Given the description of an element on the screen output the (x, y) to click on. 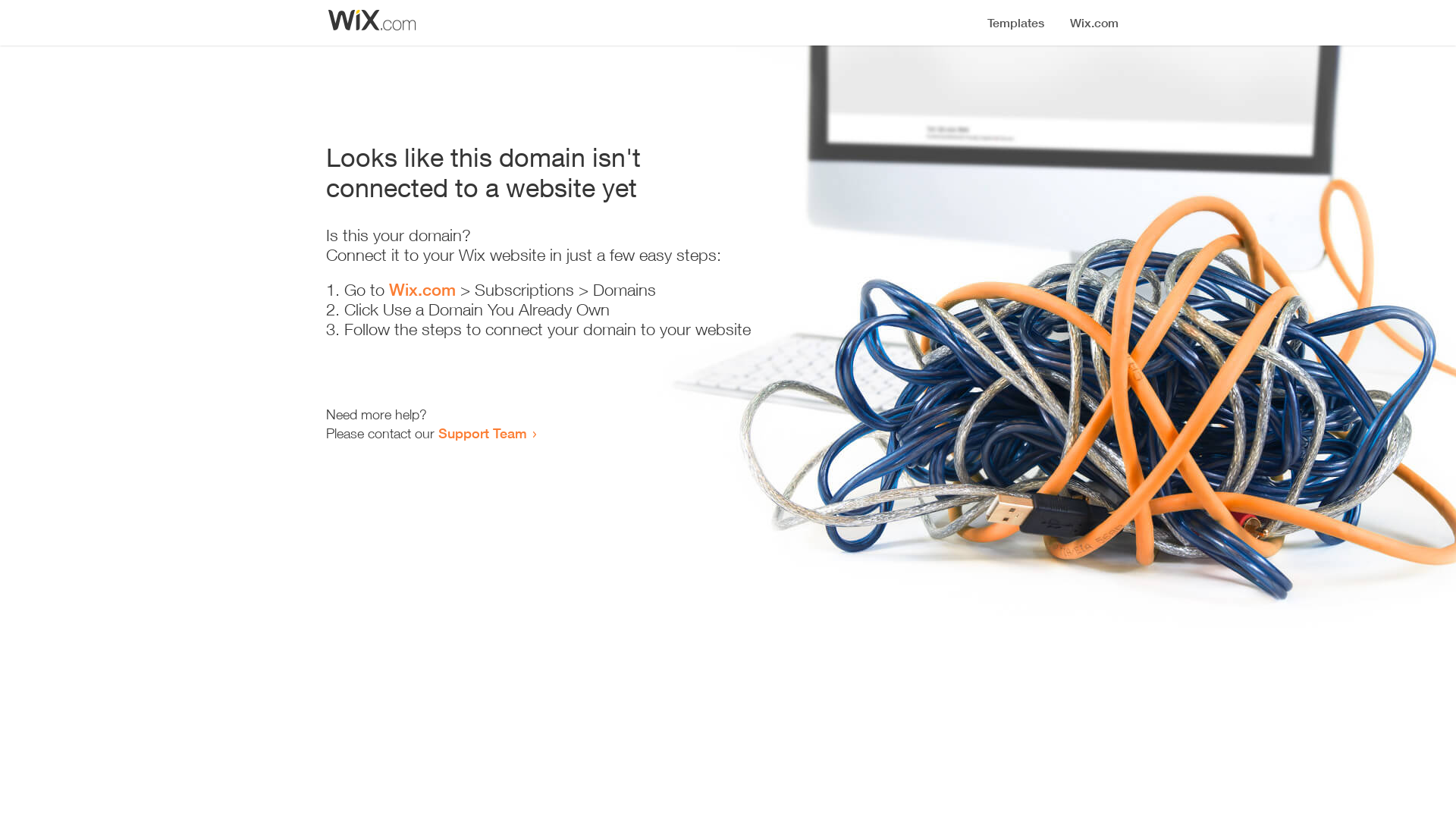
Support Team Element type: text (482, 432)
Wix.com Element type: text (422, 289)
